Given the description of an element on the screen output the (x, y) to click on. 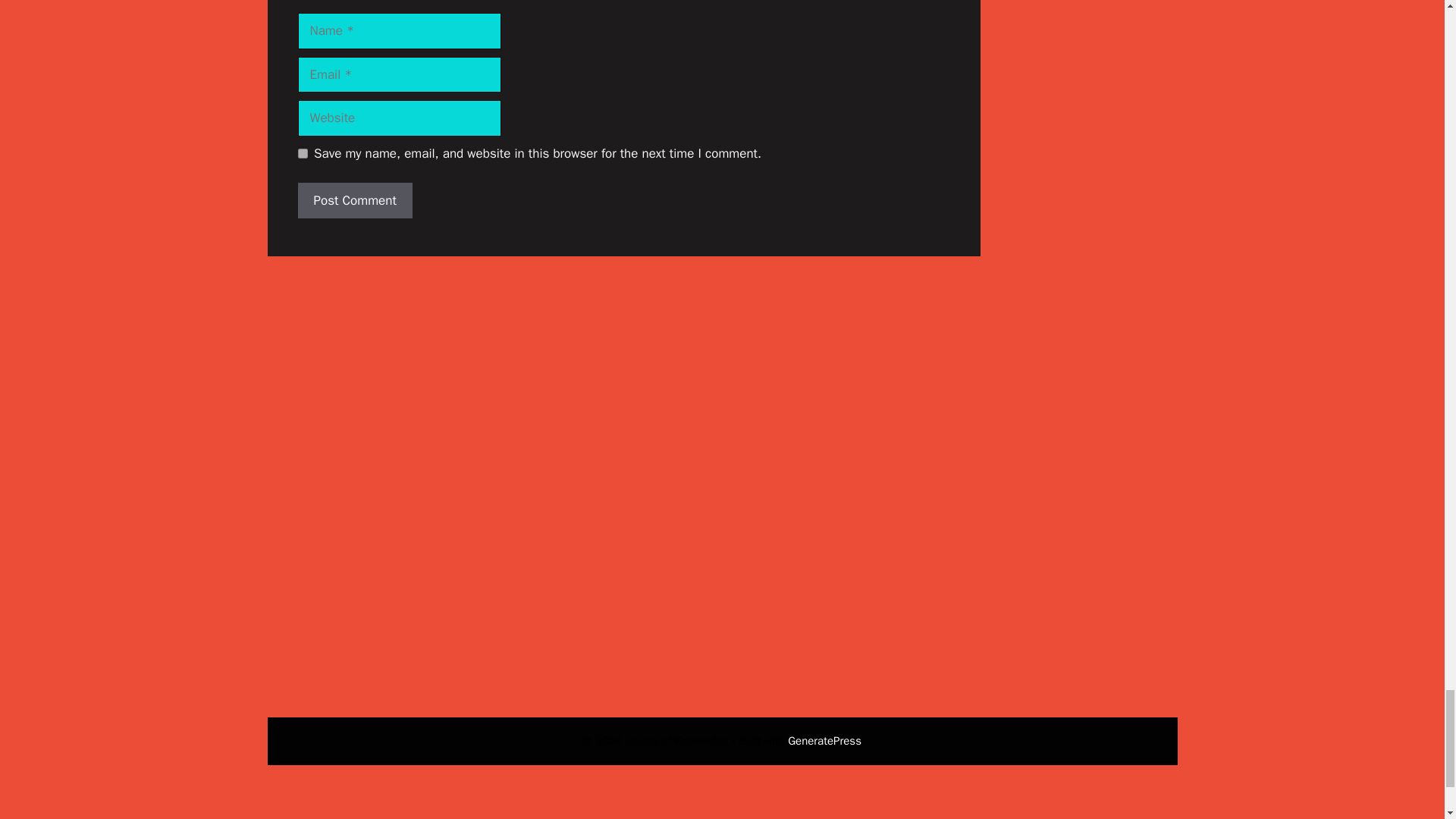
yes (302, 153)
Post Comment (354, 200)
Post Comment (354, 200)
